Given the description of an element on the screen output the (x, y) to click on. 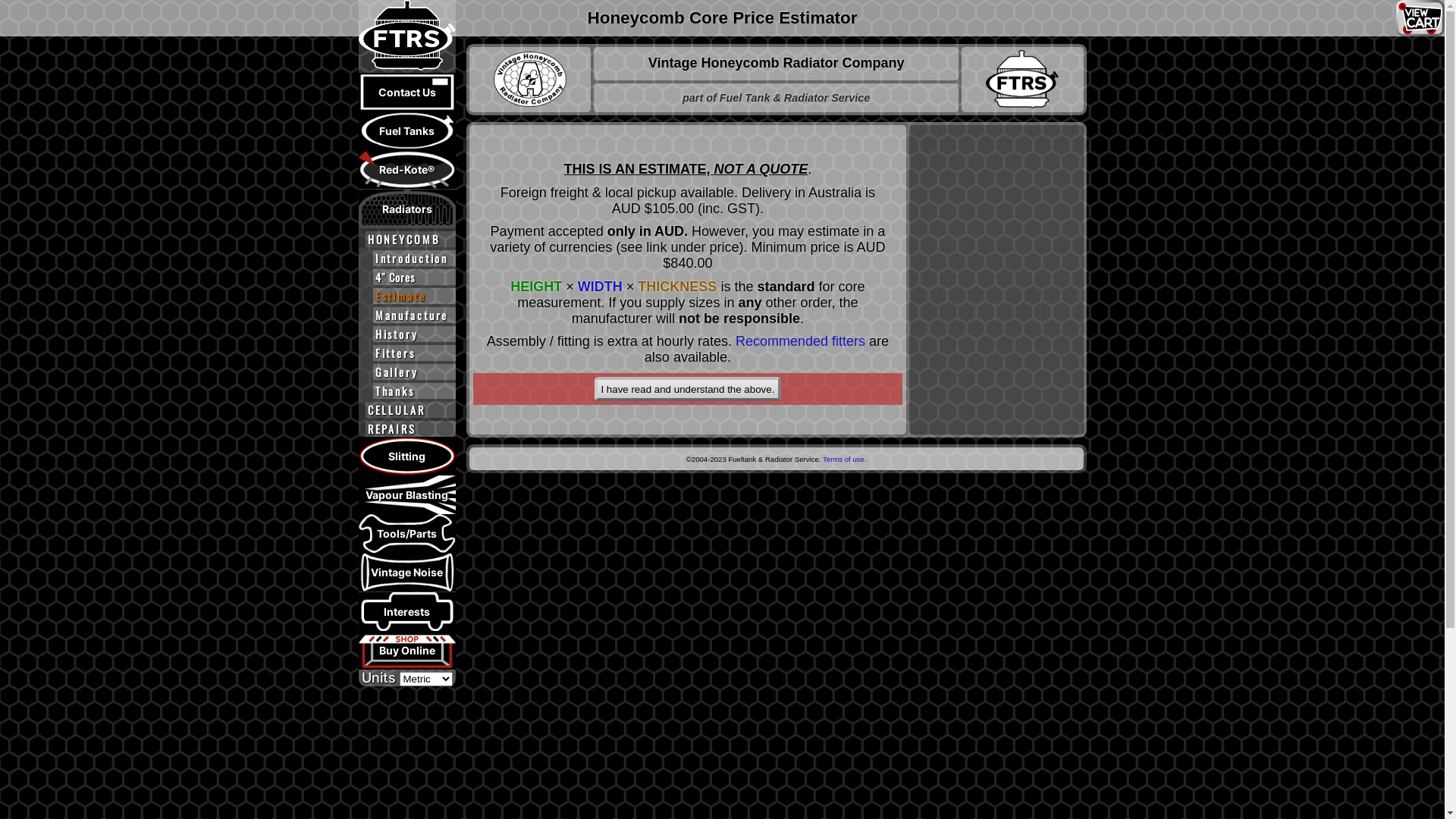
Estimate Element type: text (406, 294)
Slitting Element type: text (406, 455)
  Element type: text (406, 36)
HONEYCOMB Element type: text (406, 237)
I have read and understand the above. Element type: text (687, 388)
Vapour Blasting Element type: text (406, 494)
Gallery Element type: text (406, 369)
Terms of use. Element type: text (844, 459)
CELLULAR Element type: text (406, 409)
REPAIRS Element type: text (406, 426)
Buy Online Element type: text (406, 649)
Fitters Element type: text (406, 351)
Interests Element type: text (406, 610)
Vintage Noise Element type: text (406, 571)
Recommended fitters Element type: text (800, 340)
Fuel Tanks Element type: text (406, 130)
Thanks Element type: text (406, 390)
Radiators Element type: text (406, 208)
Manufacture Element type: text (406, 313)
Contact Us Element type: text (406, 91)
Introduction Element type: text (406, 256)
History Element type: text (406, 332)
Tools/Parts Element type: text (406, 533)
